Given the description of an element on the screen output the (x, y) to click on. 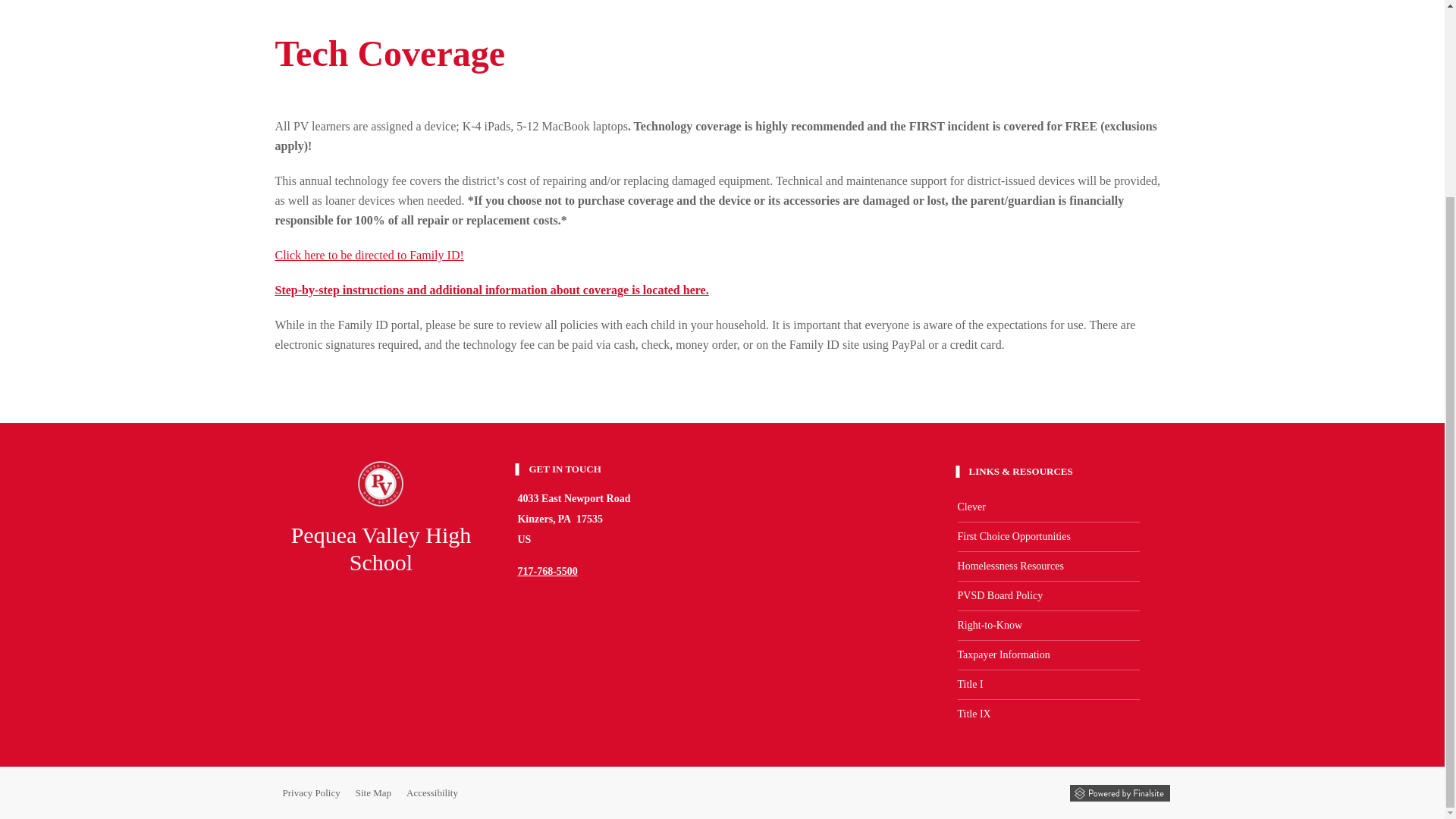
Powered by Finalsite opens in a new window (1118, 792)
